Given the description of an element on the screen output the (x, y) to click on. 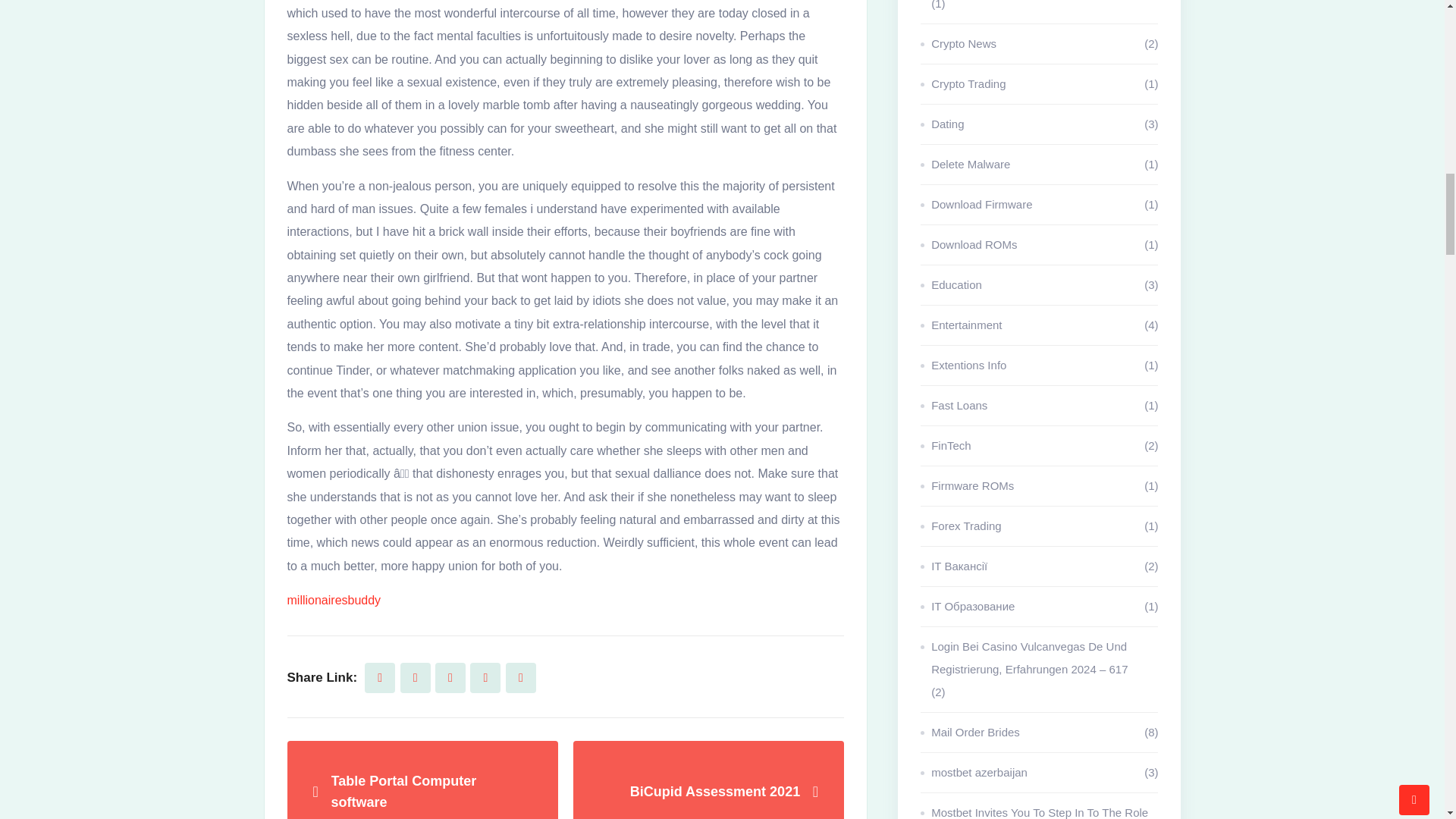
millionairesbuddy (333, 599)
